Given the description of an element on the screen output the (x, y) to click on. 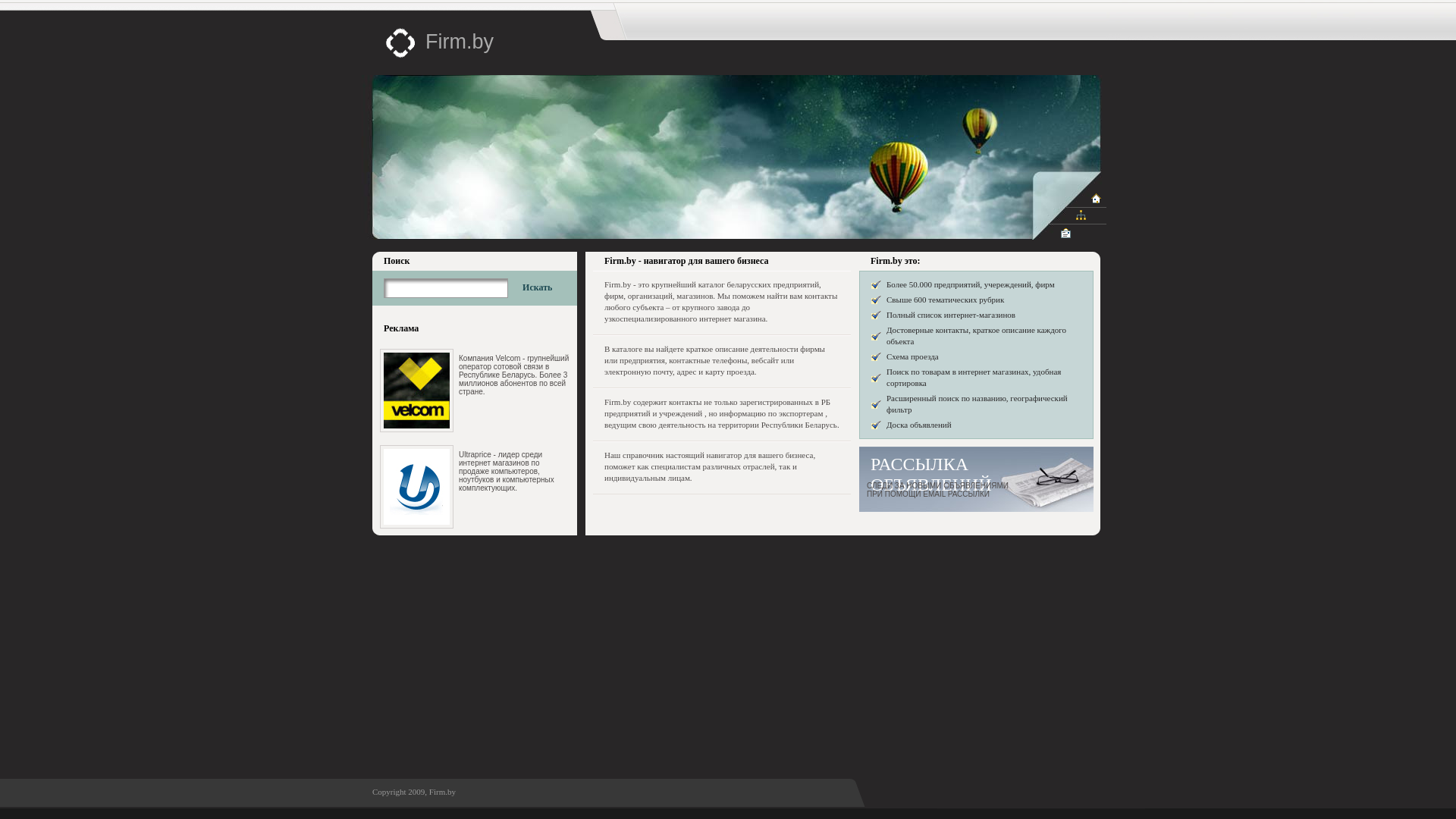
Firm.by Element type: text (459, 41)
